Given the description of an element on the screen output the (x, y) to click on. 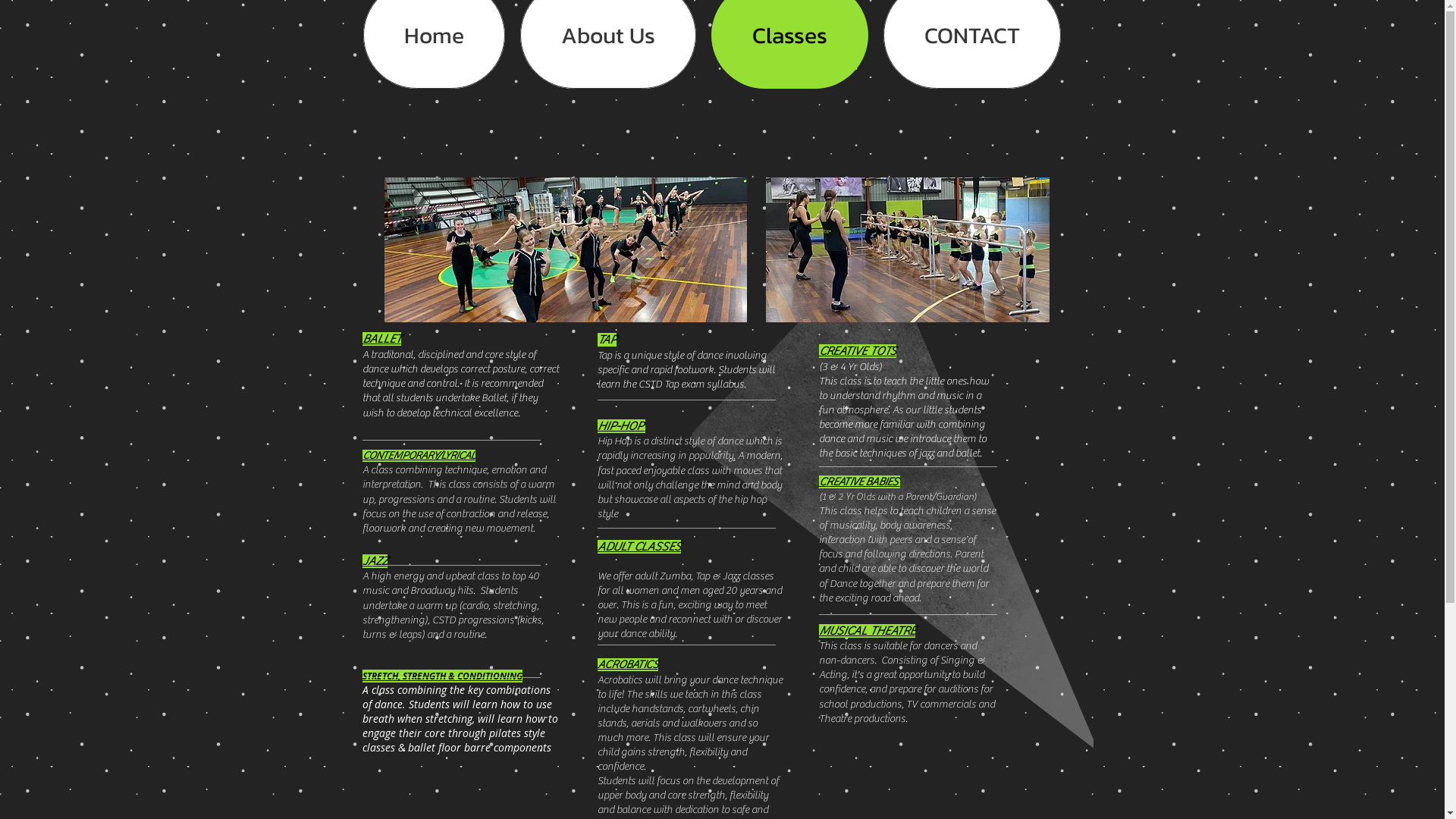
IMG_8454_edited.JPG Element type: hover (907, 249)
